Given the description of an element on the screen output the (x, y) to click on. 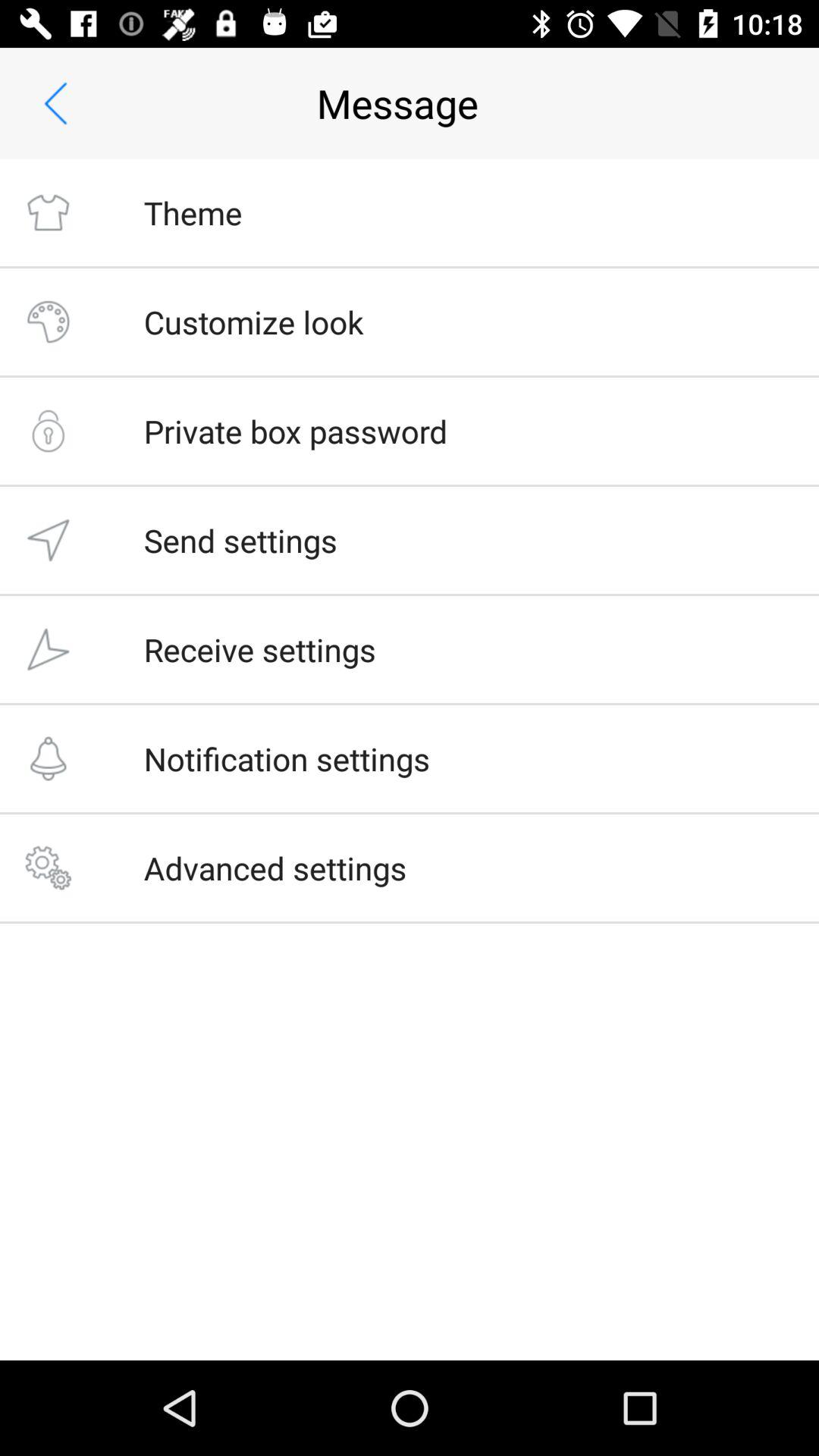
open item below theme (253, 321)
